Given the description of an element on the screen output the (x, y) to click on. 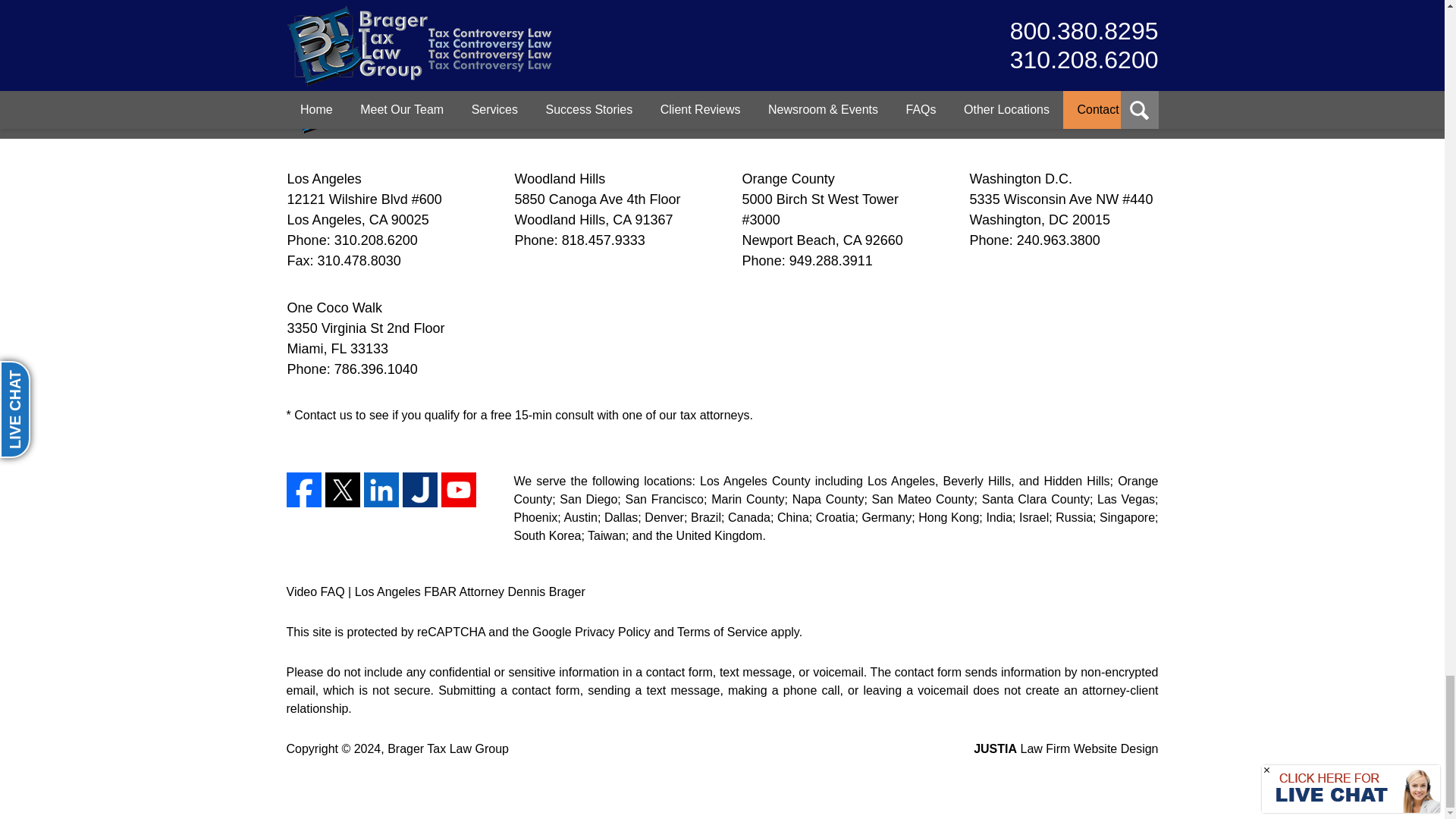
Facebook (303, 489)
LinkedIn (381, 489)
YouTube (458, 489)
Justia (418, 489)
Twitter (341, 489)
